Given the description of an element on the screen output the (x, y) to click on. 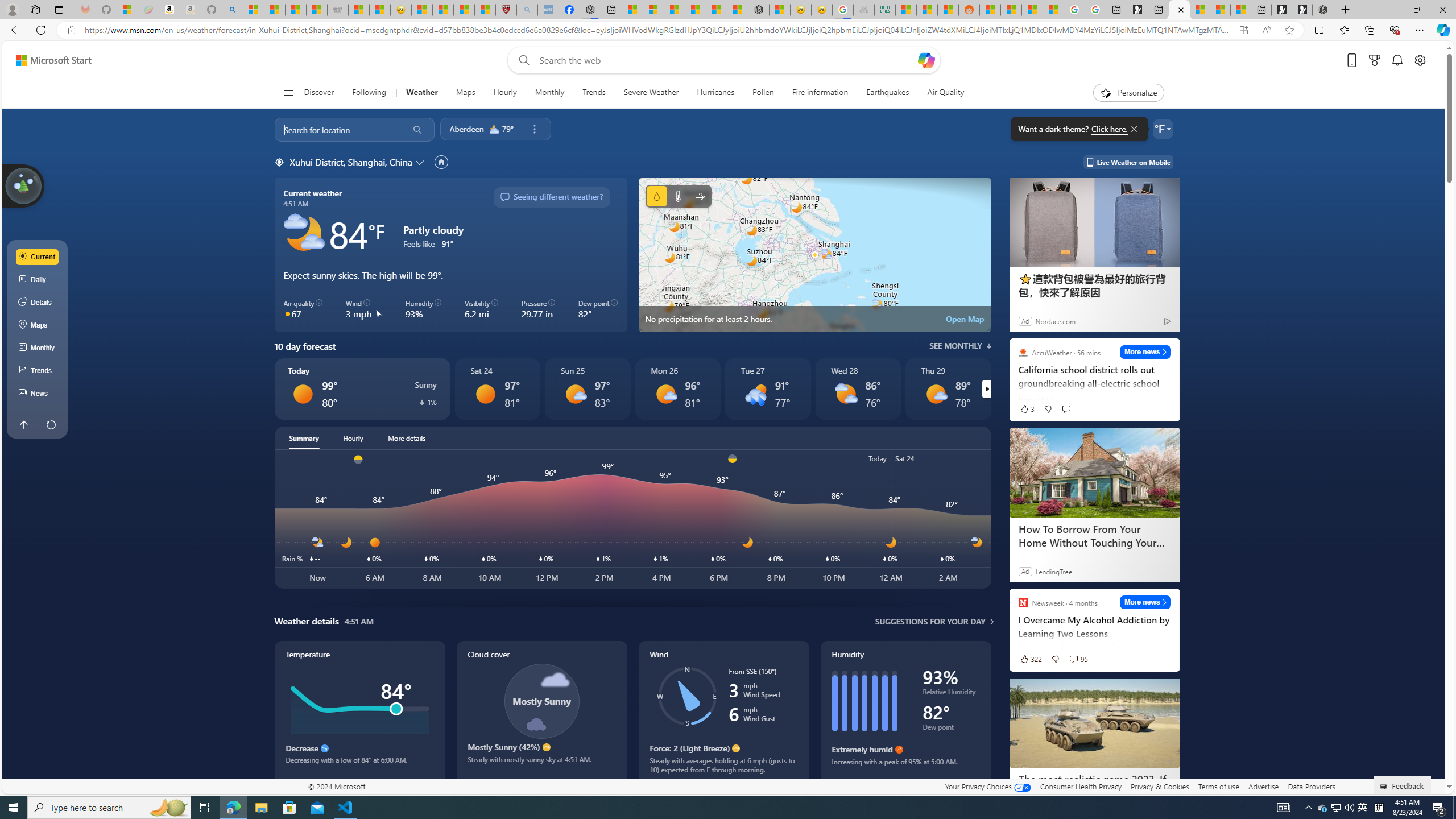
Daily (37, 279)
Relative Humidity (951, 693)
Wind (699, 195)
See Monthly (959, 345)
Combat Siege (337, 9)
How To Borrow From Your Home Without Touching Your Mortgage (1094, 472)
Search for location (337, 128)
Xuhui District, Shanghai, China (350, 161)
